Given the description of an element on the screen output the (x, y) to click on. 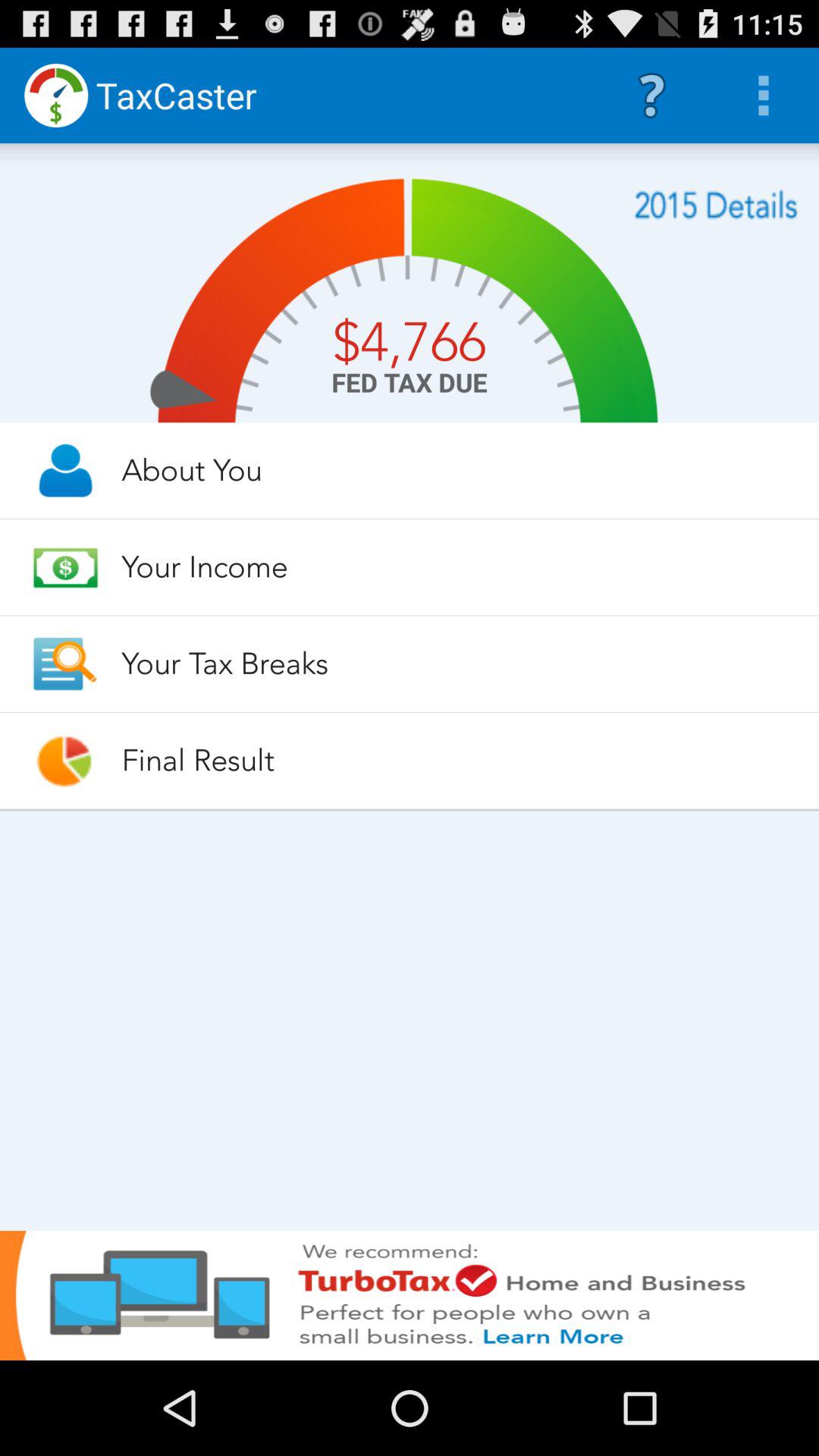
launch the app above the about you (715, 204)
